Given the description of an element on the screen output the (x, y) to click on. 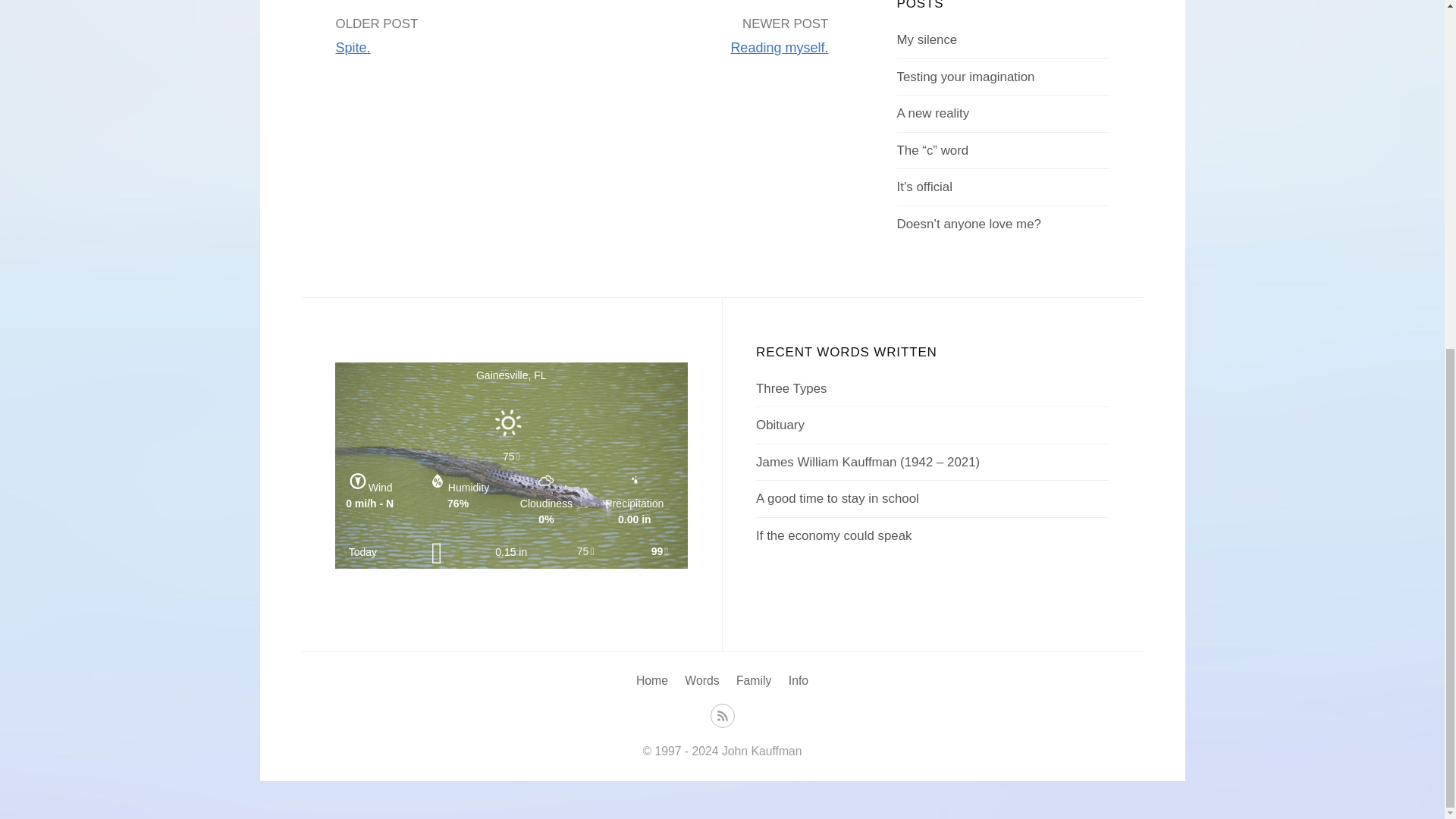
Precipitation (634, 480)
A good time to stay in school (836, 498)
Three Types (791, 388)
Obituary (780, 424)
Testing your imagination (965, 76)
Family (753, 680)
Humidity (437, 480)
Info (798, 680)
Home (652, 680)
A new reality (932, 113)
My silence (927, 39)
Words (701, 680)
Reading myself. (779, 47)
Wind (357, 480)
If the economy could speak (833, 535)
